Given the description of an element on the screen output the (x, y) to click on. 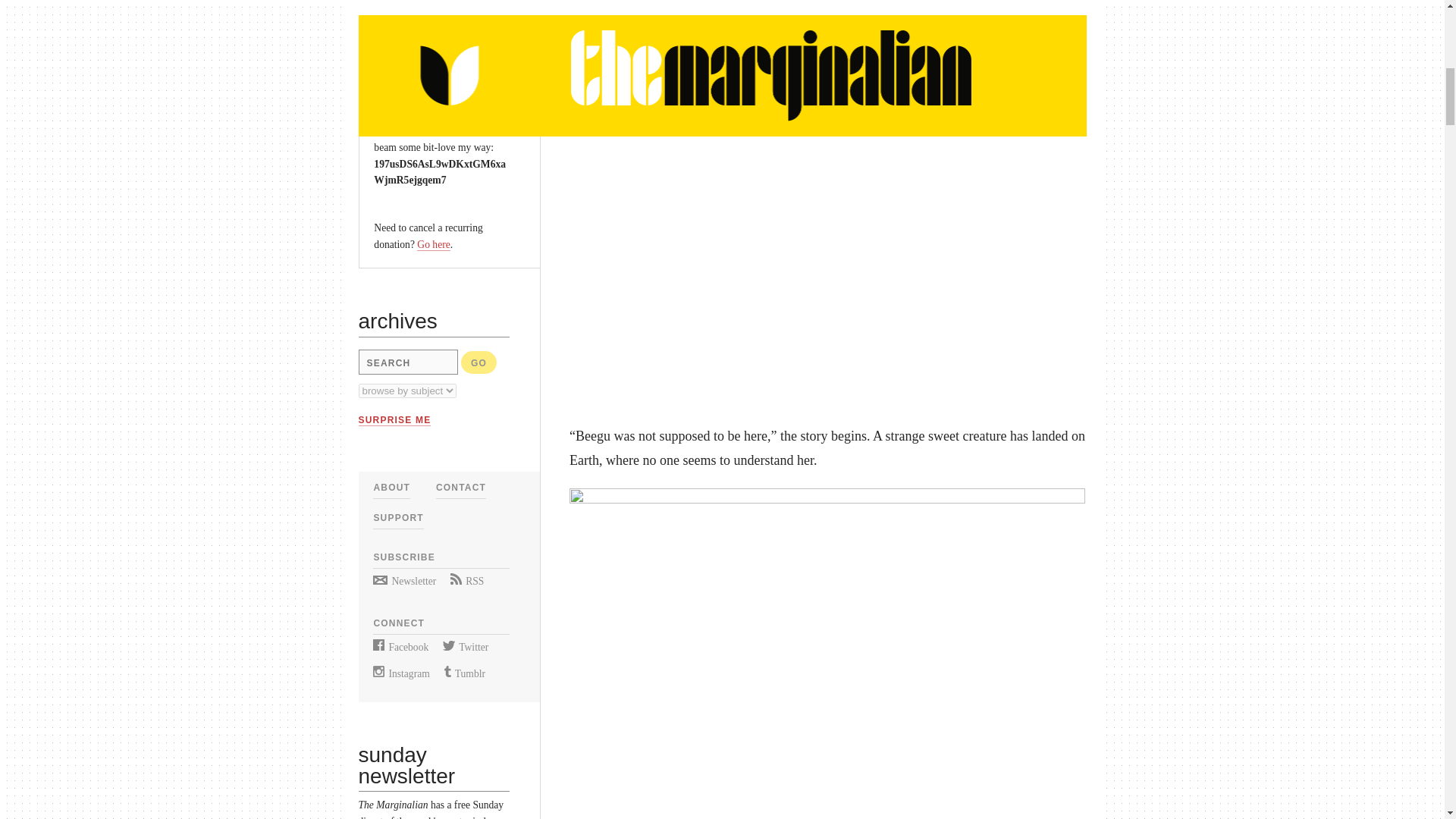
Go (478, 362)
SUPPORT (397, 517)
ABOUT (391, 487)
Tumblr (464, 673)
Twitter (464, 646)
Facebook (400, 646)
RSS (466, 581)
Instagram (400, 673)
Go (478, 362)
CONTACT (460, 487)
GIVE NOW (410, 53)
Go here (432, 244)
SURPRISE ME (394, 419)
Newsletter (403, 581)
